Given the description of an element on the screen output the (x, y) to click on. 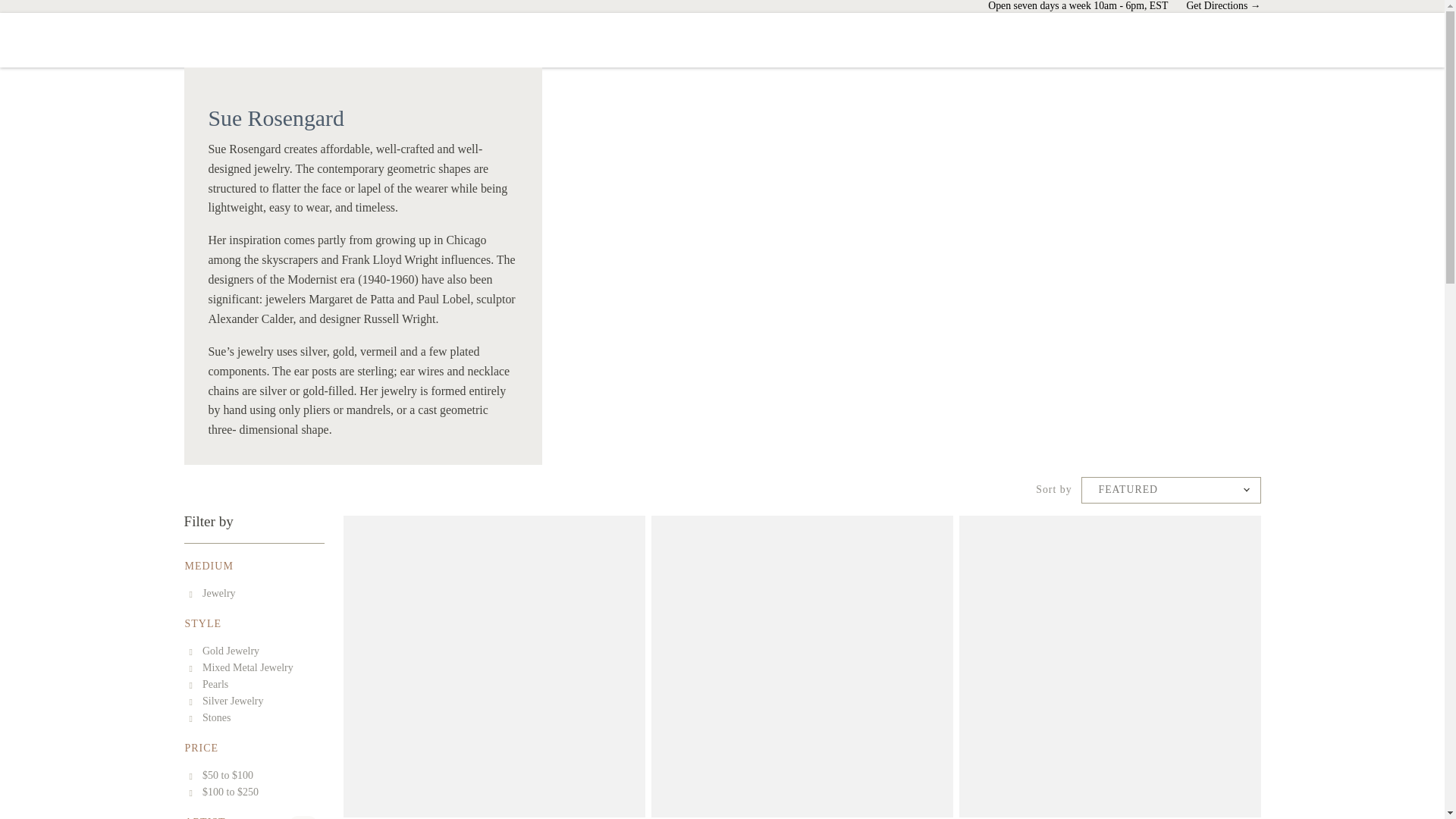
Narrow selection to products matching tag 50-100 (221, 775)
Jewelry (253, 593)
Open seven days a week 10am - 6pm, EST (1077, 6)
Narrow selection to products matching tag 100-250 (224, 791)
